Given the description of an element on the screen output the (x, y) to click on. 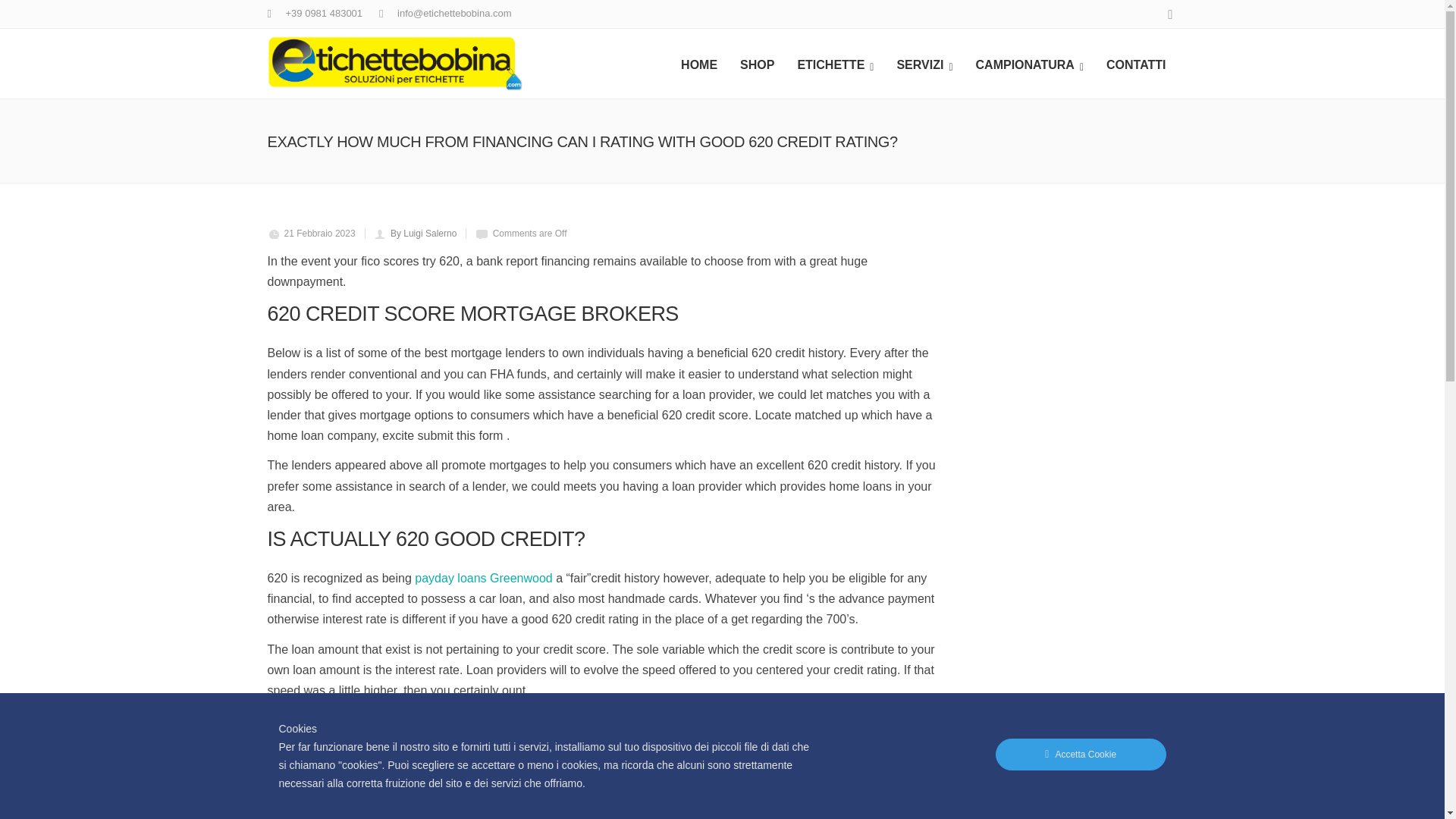
payday loans Greenwood (482, 577)
Facebook (1169, 15)
SERVIZI (924, 63)
CONTATTI (1135, 63)
By Luigi Salerno (423, 233)
ETICHETTE (835, 63)
Pagamenti (631, 545)
CAMPIONATURA (1028, 63)
Condizioni generali di vendita (675, 526)
